Given the description of an element on the screen output the (x, y) to click on. 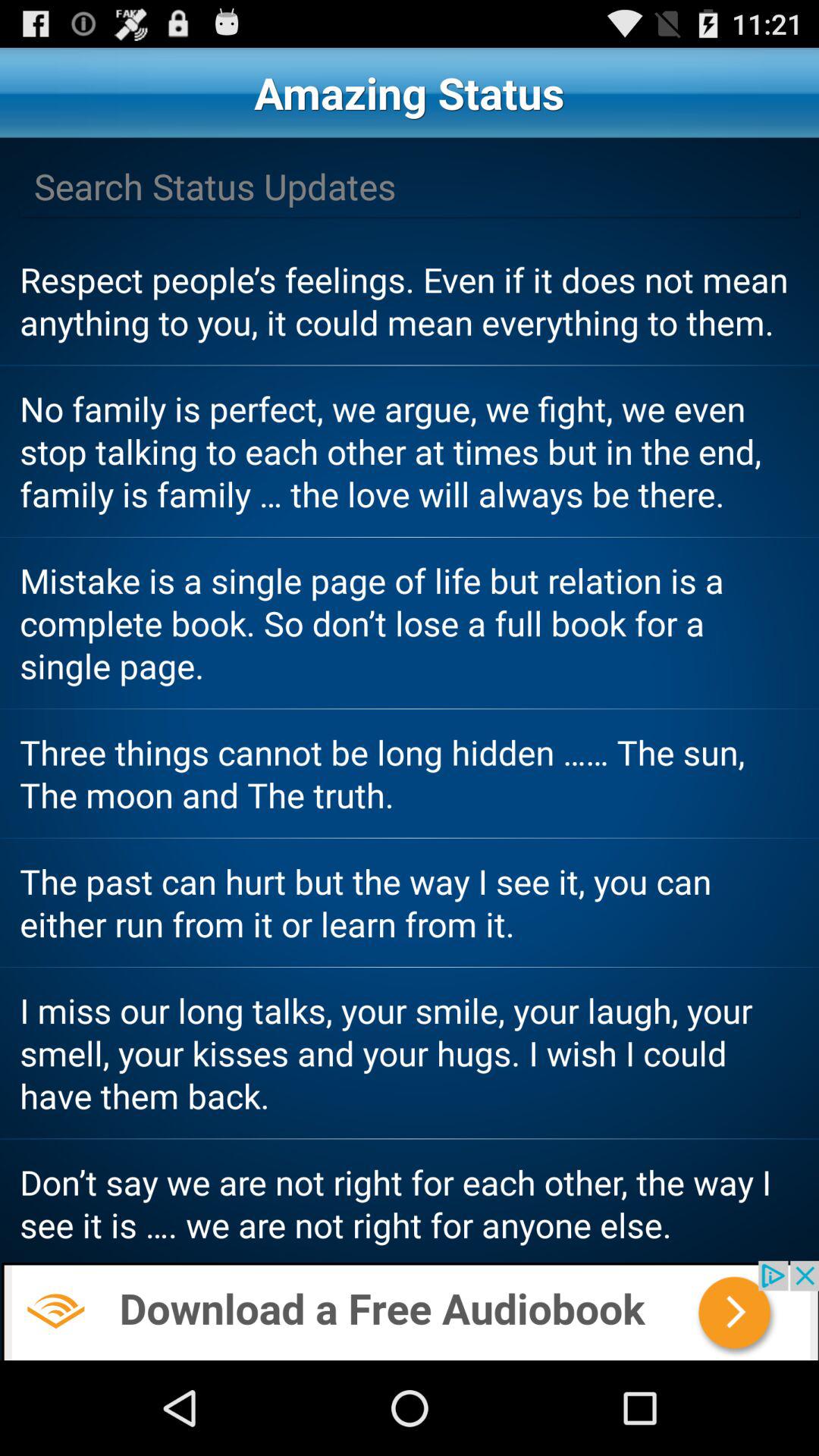
search page (409, 186)
